Given the description of an element on the screen output the (x, y) to click on. 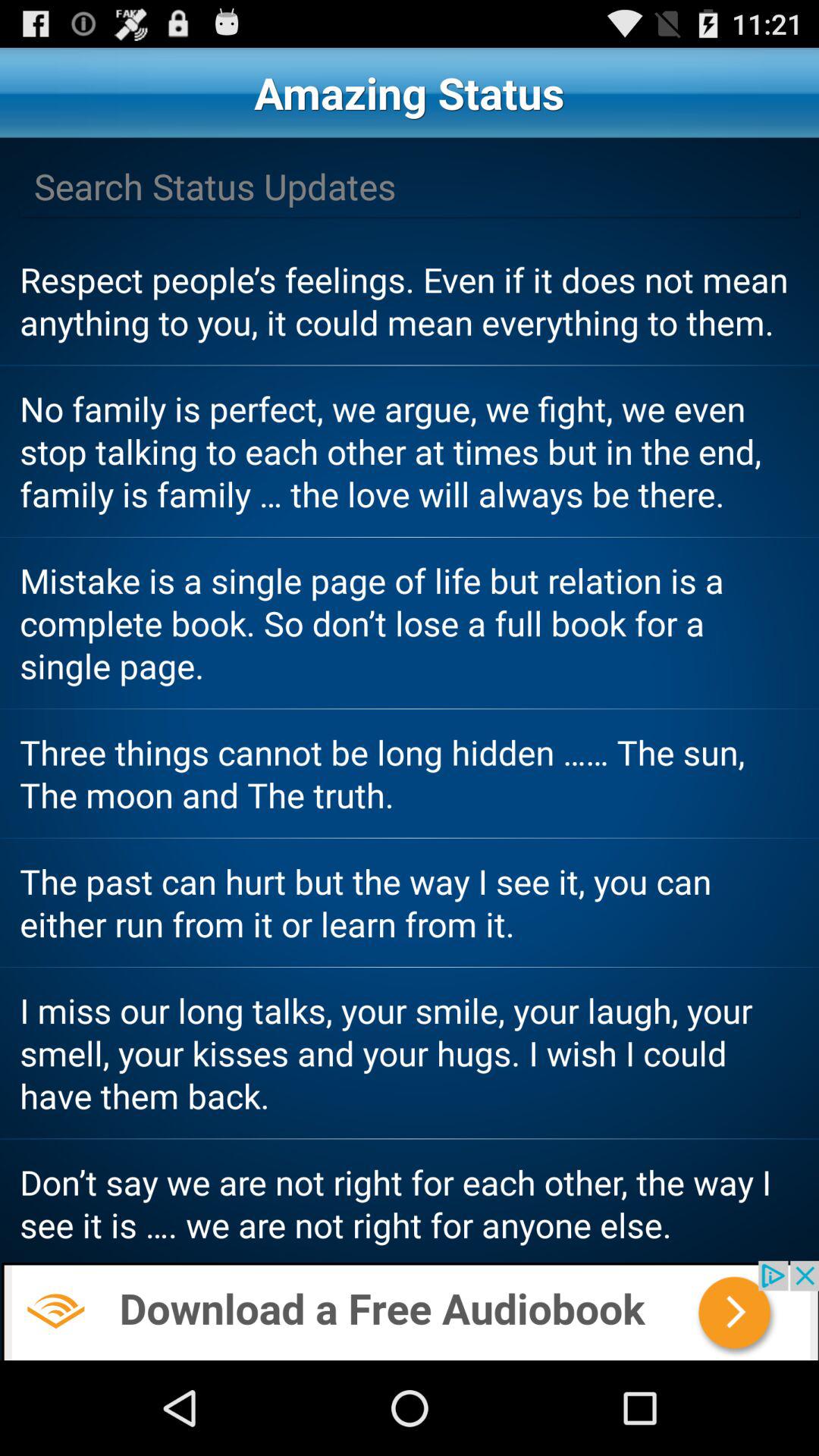
search page (409, 186)
